Given the description of an element on the screen output the (x, y) to click on. 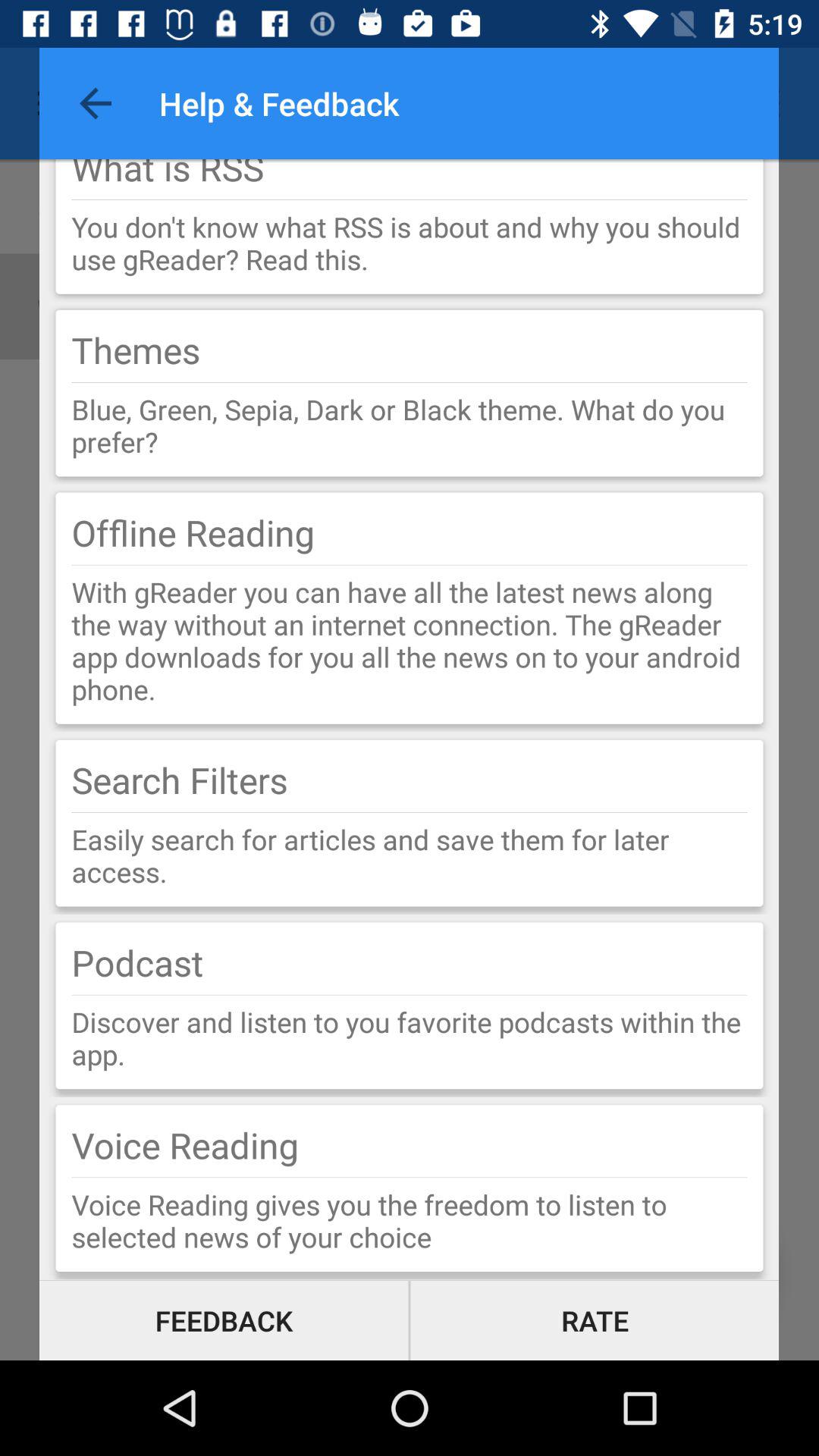
flip to the offline reading item (192, 532)
